Given the description of an element on the screen output the (x, y) to click on. 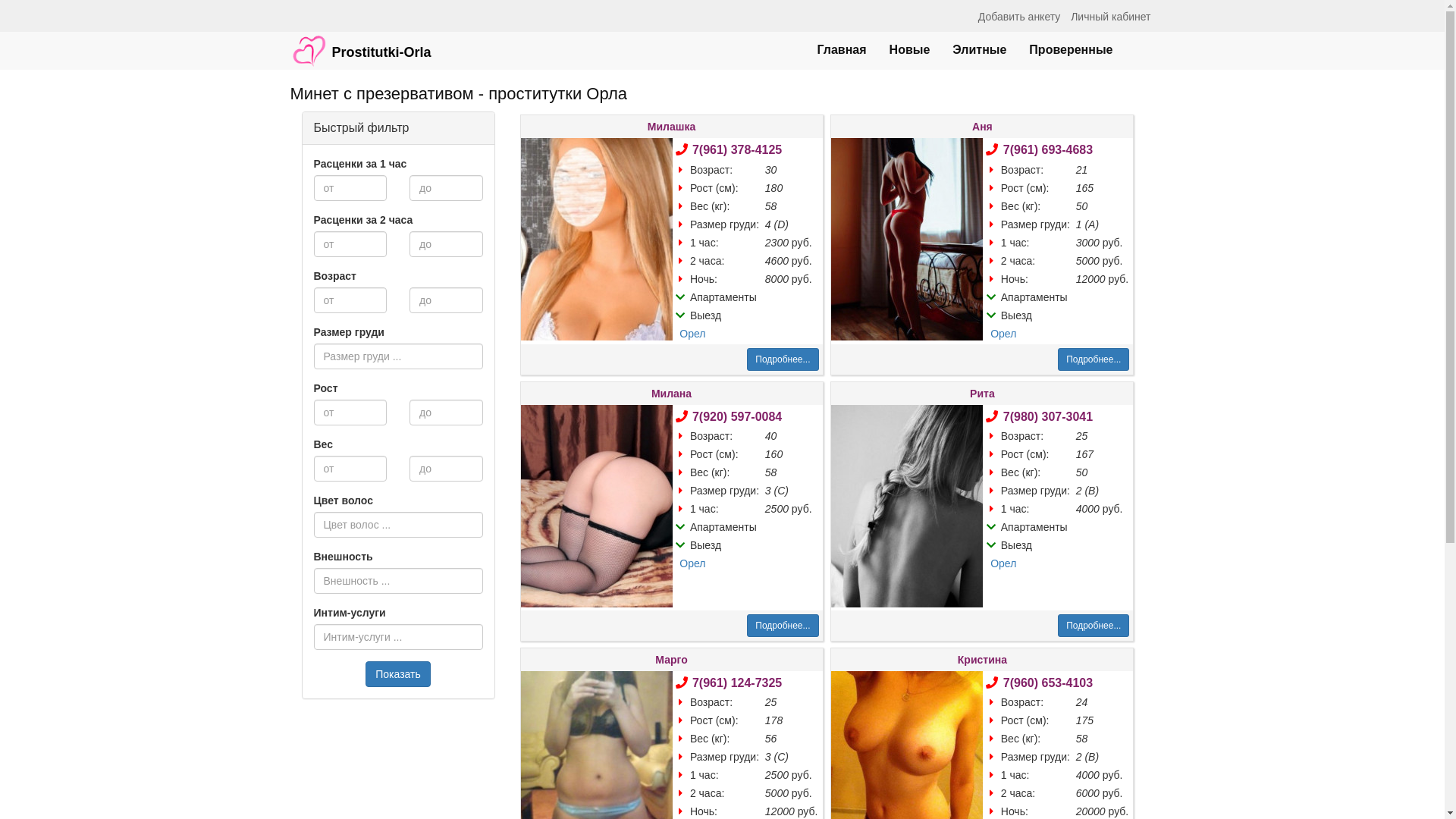
Prostitutki-Orla Element type: text (360, 43)
